Given the description of an element on the screen output the (x, y) to click on. 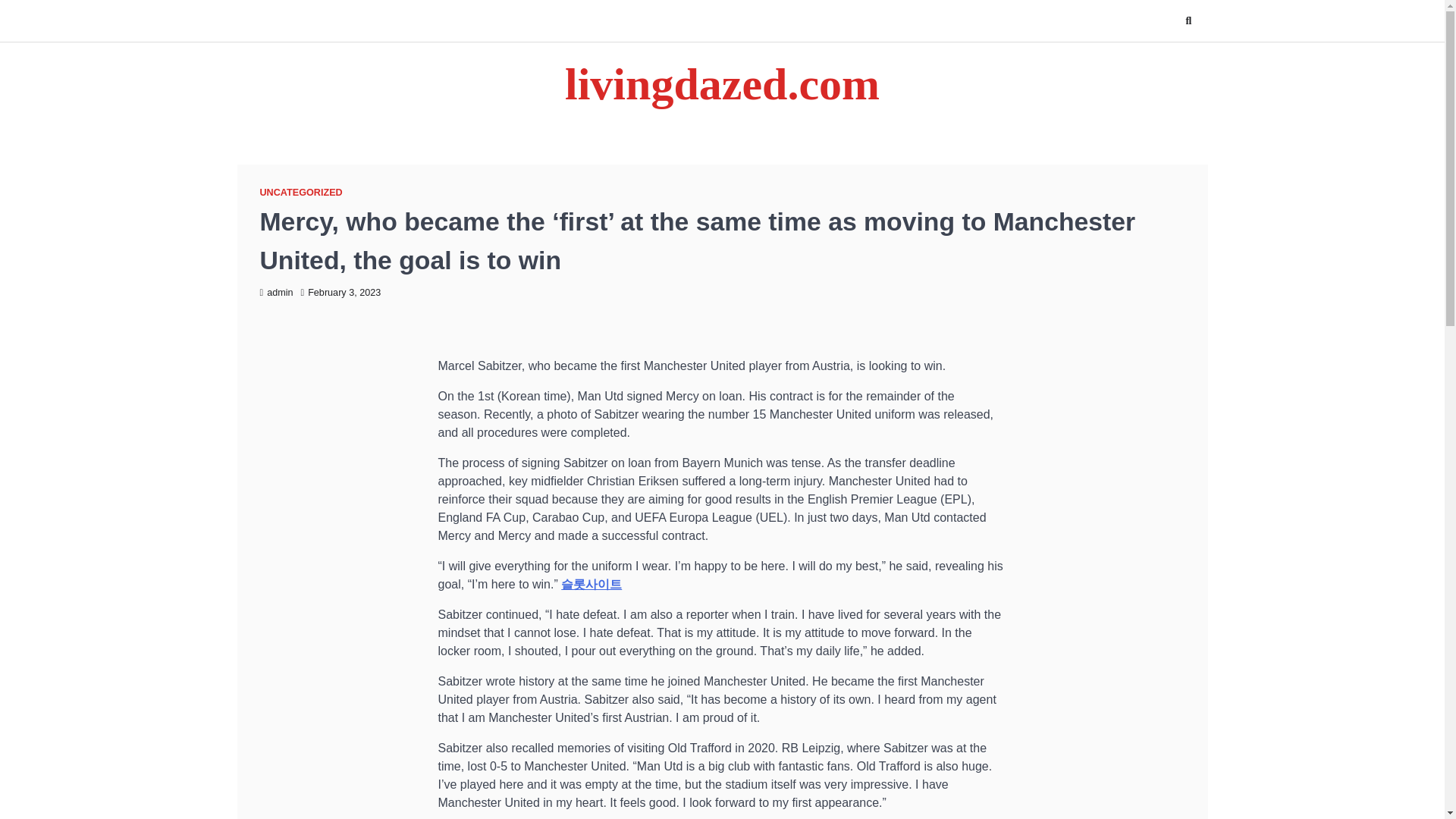
UNCATEGORIZED (300, 193)
Search (1187, 20)
February 3, 2023 (341, 292)
admin (275, 292)
Search (1168, 55)
livingdazed.com (721, 83)
